Given the description of an element on the screen output the (x, y) to click on. 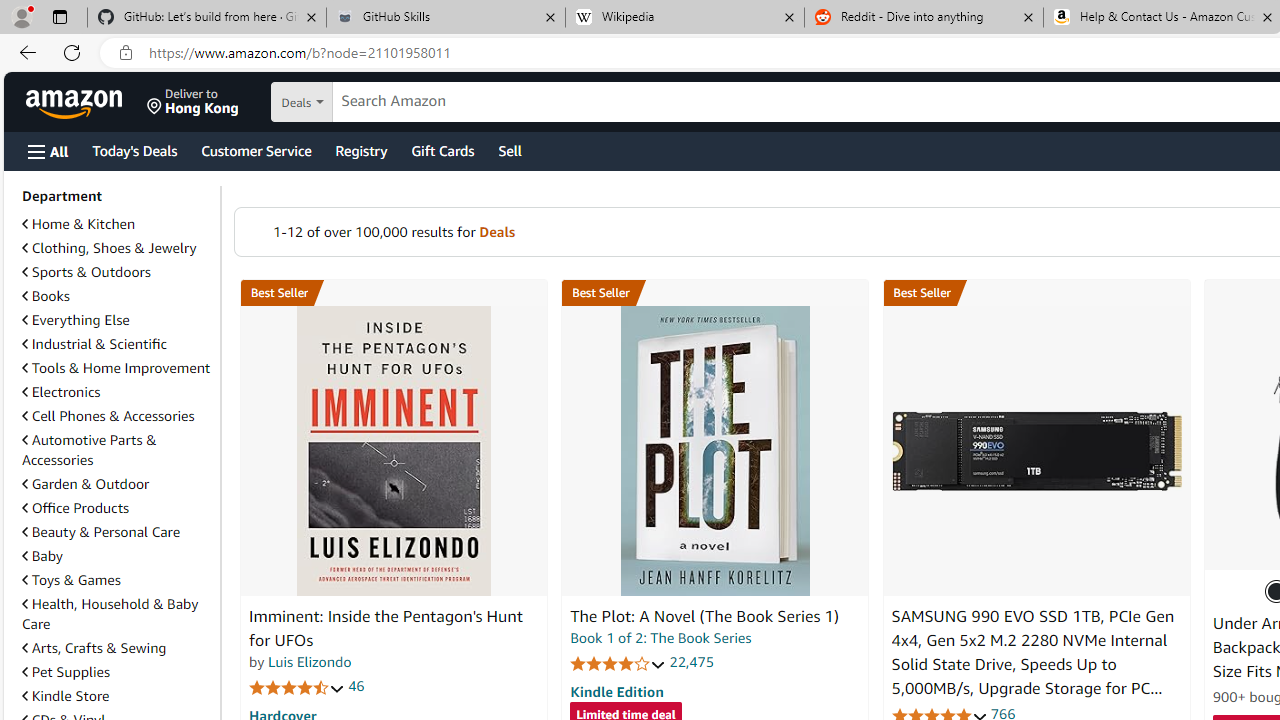
Everything Else (75, 320)
Everything Else (117, 319)
Automotive Parts & Accessories (117, 449)
Industrial & Scientific (94, 343)
The Plot: A Novel (The Book Series 1) (703, 616)
Today's Deals (134, 150)
GitHub Skills (445, 17)
Home & Kitchen (117, 223)
Kindle Edition (616, 691)
Registry (360, 150)
Electronics (61, 392)
Beauty & Personal Care (117, 532)
